Given the description of an element on the screen output the (x, y) to click on. 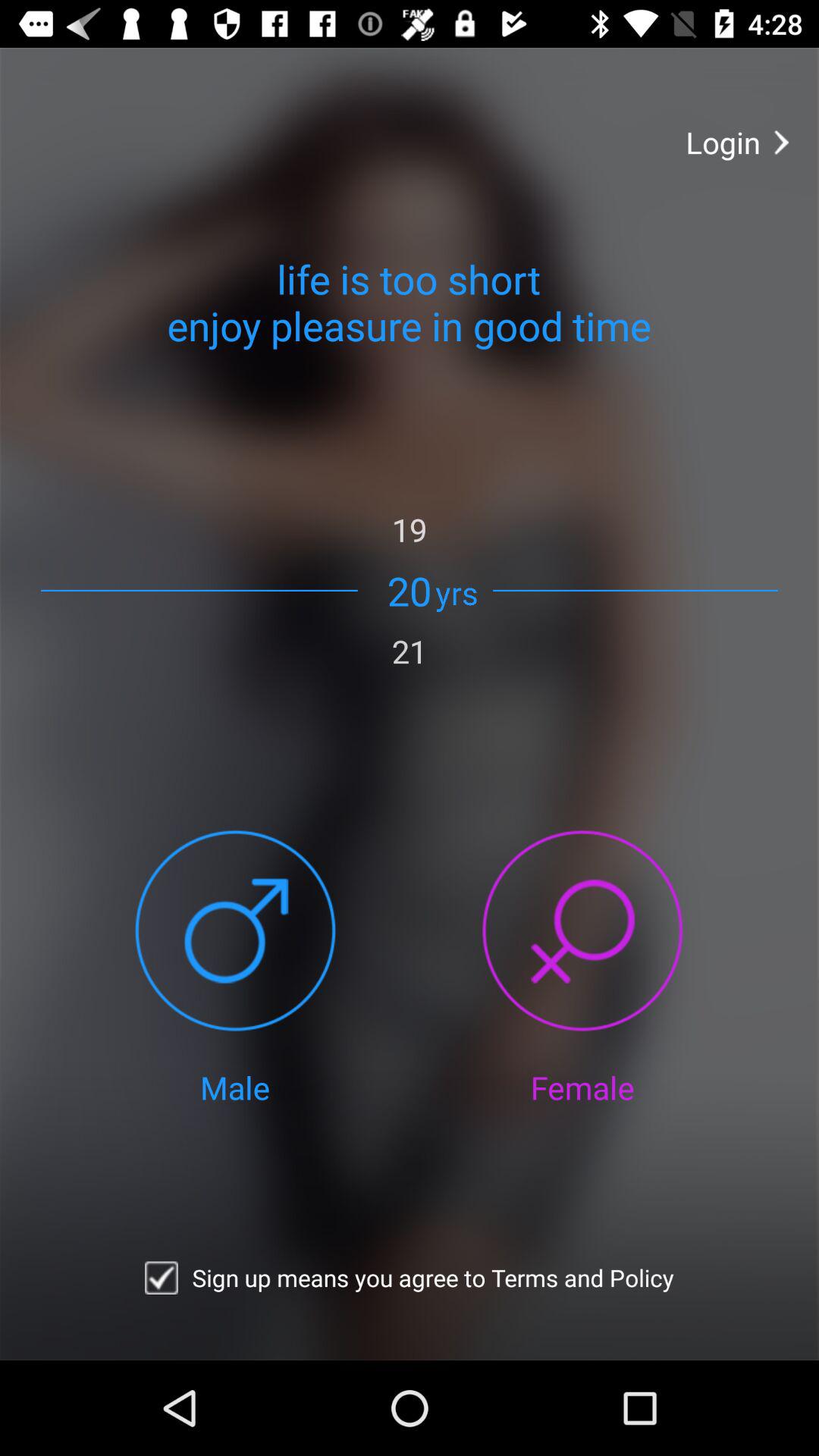
uncheck (161, 1277)
